Given the description of an element on the screen output the (x, y) to click on. 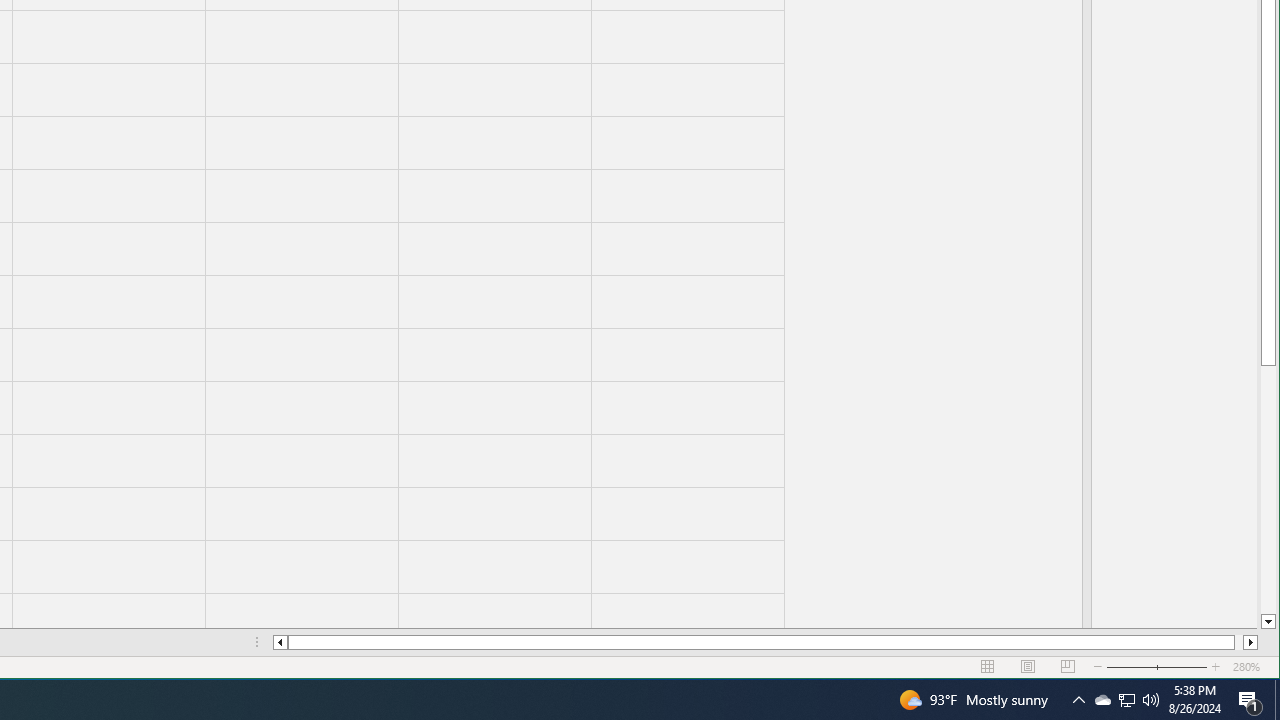
Show desktop (1277, 699)
User Promoted Notification Area (1126, 699)
